Given the description of an element on the screen output the (x, y) to click on. 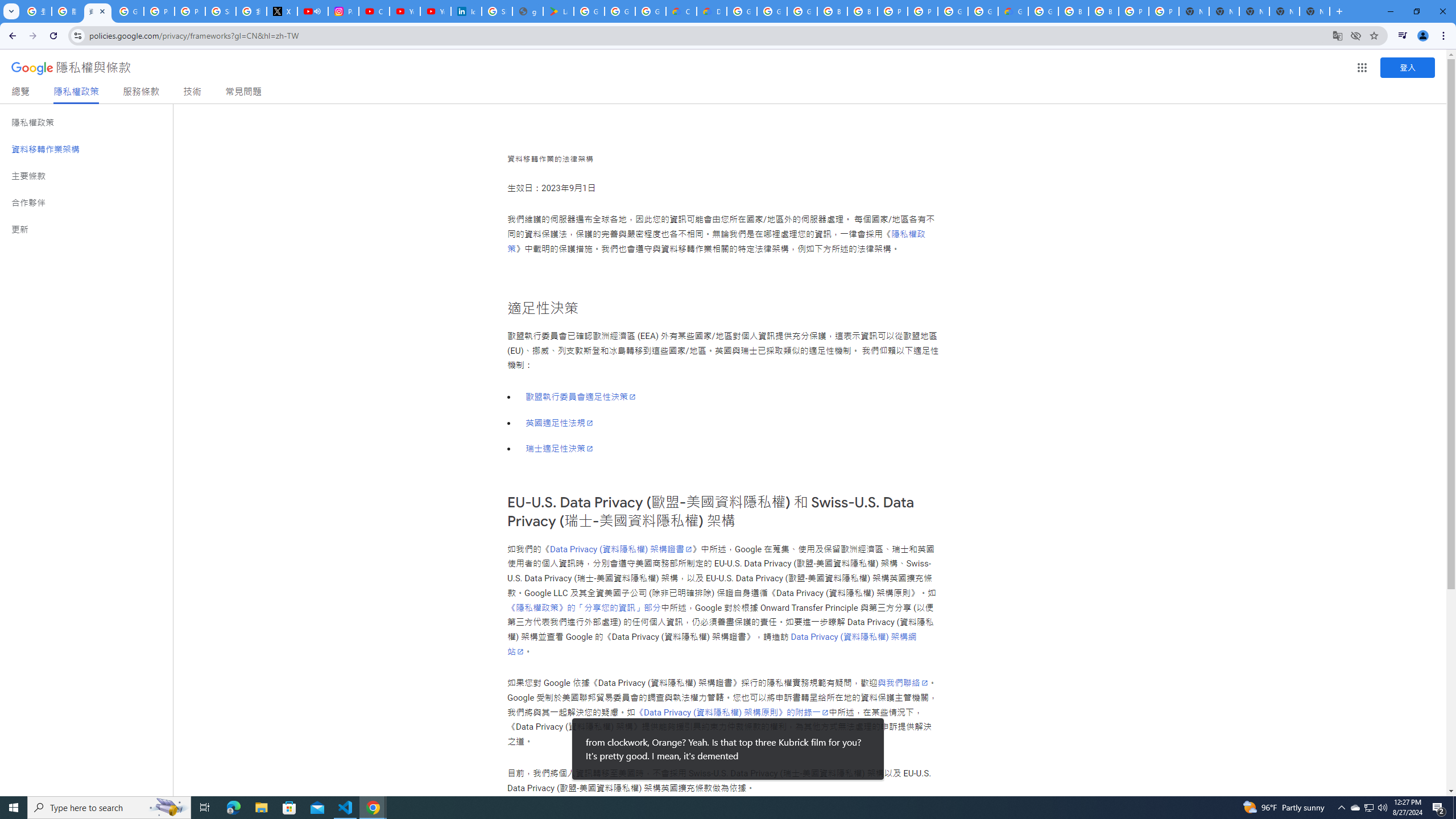
Customer Care | Google Cloud (681, 11)
Google Cloud Platform (982, 11)
